Given the description of an element on the screen output the (x, y) to click on. 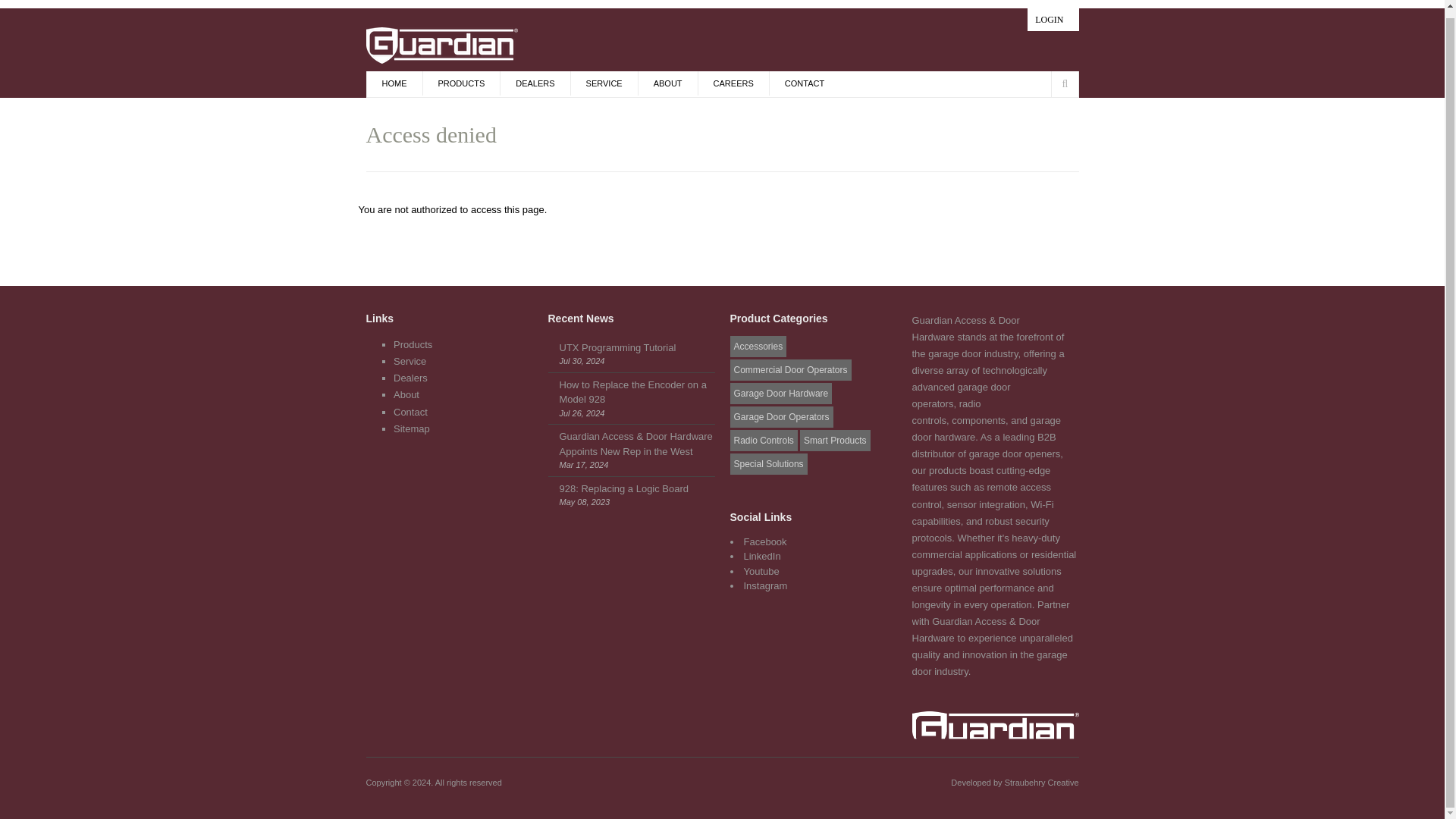
Search (1163, 83)
Dealers (410, 378)
Home (994, 733)
Contact Guardian (410, 411)
Accessories (757, 346)
Smart Products (834, 440)
Sitemap (411, 428)
LOGIN (1052, 19)
DEALERS (534, 82)
Dealers (410, 378)
